Given the description of an element on the screen output the (x, y) to click on. 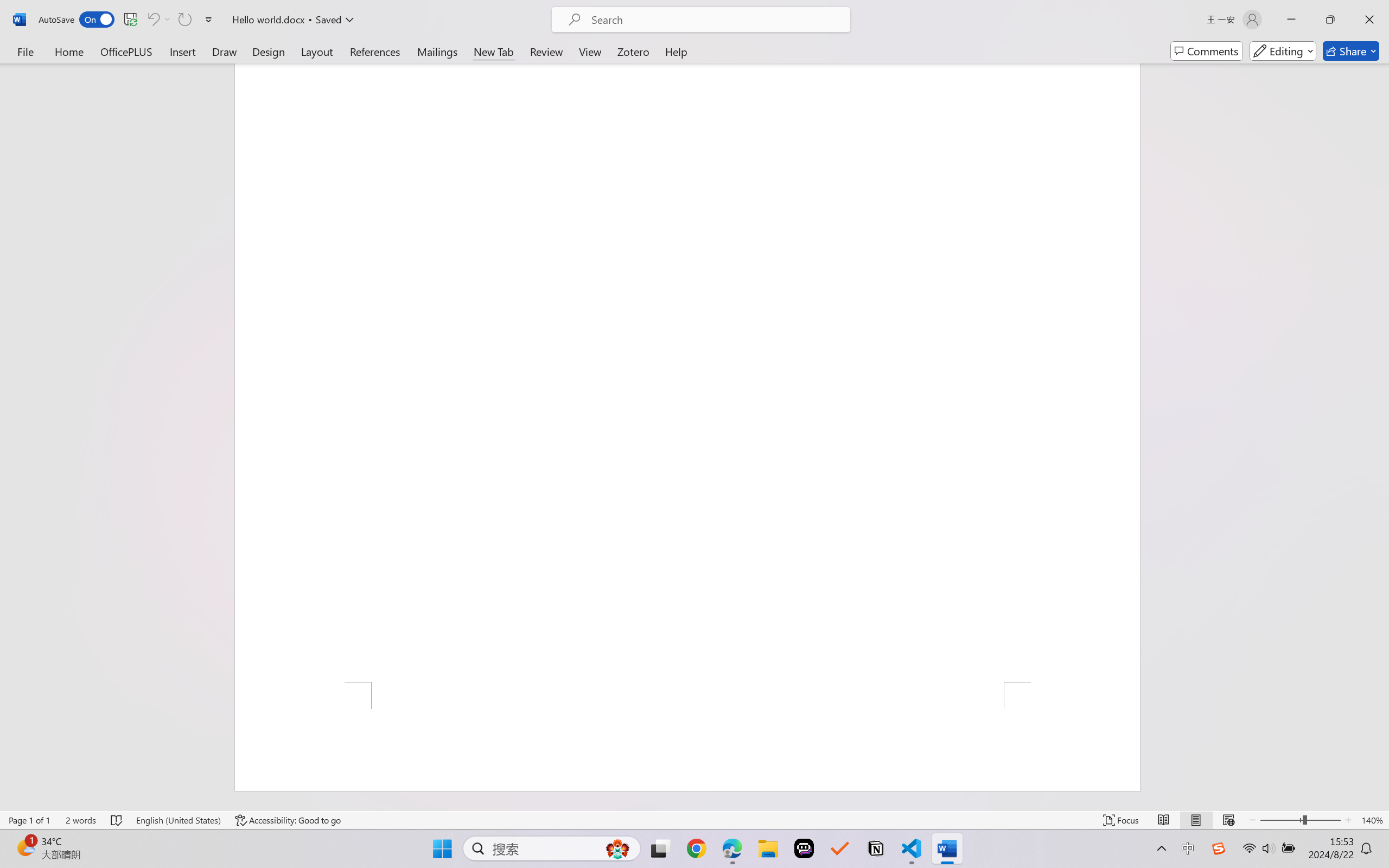
Class: MsoCommandBar (694, 819)
Zoom (1300, 819)
Can't Repeat (184, 19)
References (375, 51)
Restore Down (1330, 19)
AutomationID: DynamicSearchBoxGleamImage (617, 848)
Quick Access Toolbar (127, 19)
